Given the description of an element on the screen output the (x, y) to click on. 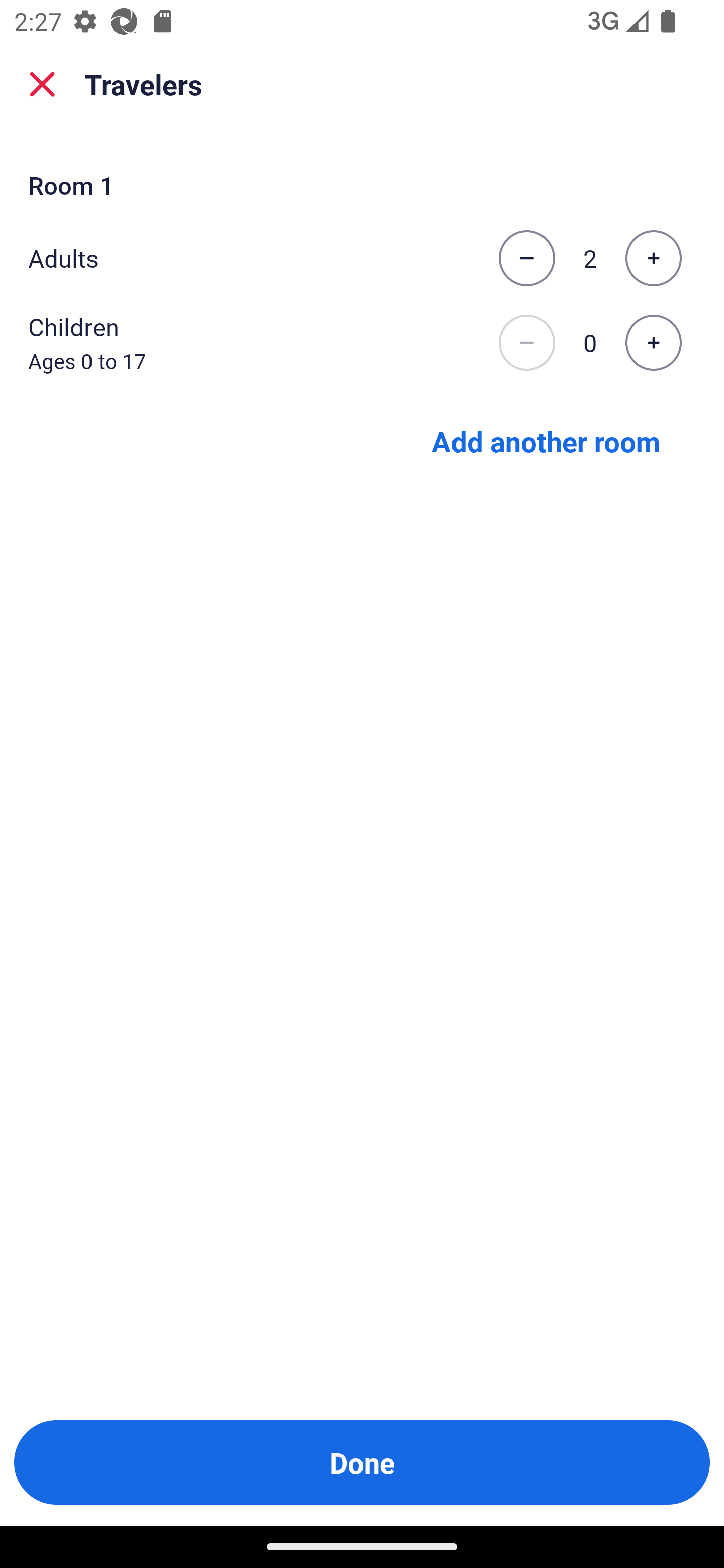
close (42, 84)
Decrease the number of adults (526, 258)
Increase the number of adults (653, 258)
Decrease the number of children (526, 343)
Increase the number of children (653, 343)
Add another room (545, 440)
Done (361, 1462)
